Given the description of an element on the screen output the (x, y) to click on. 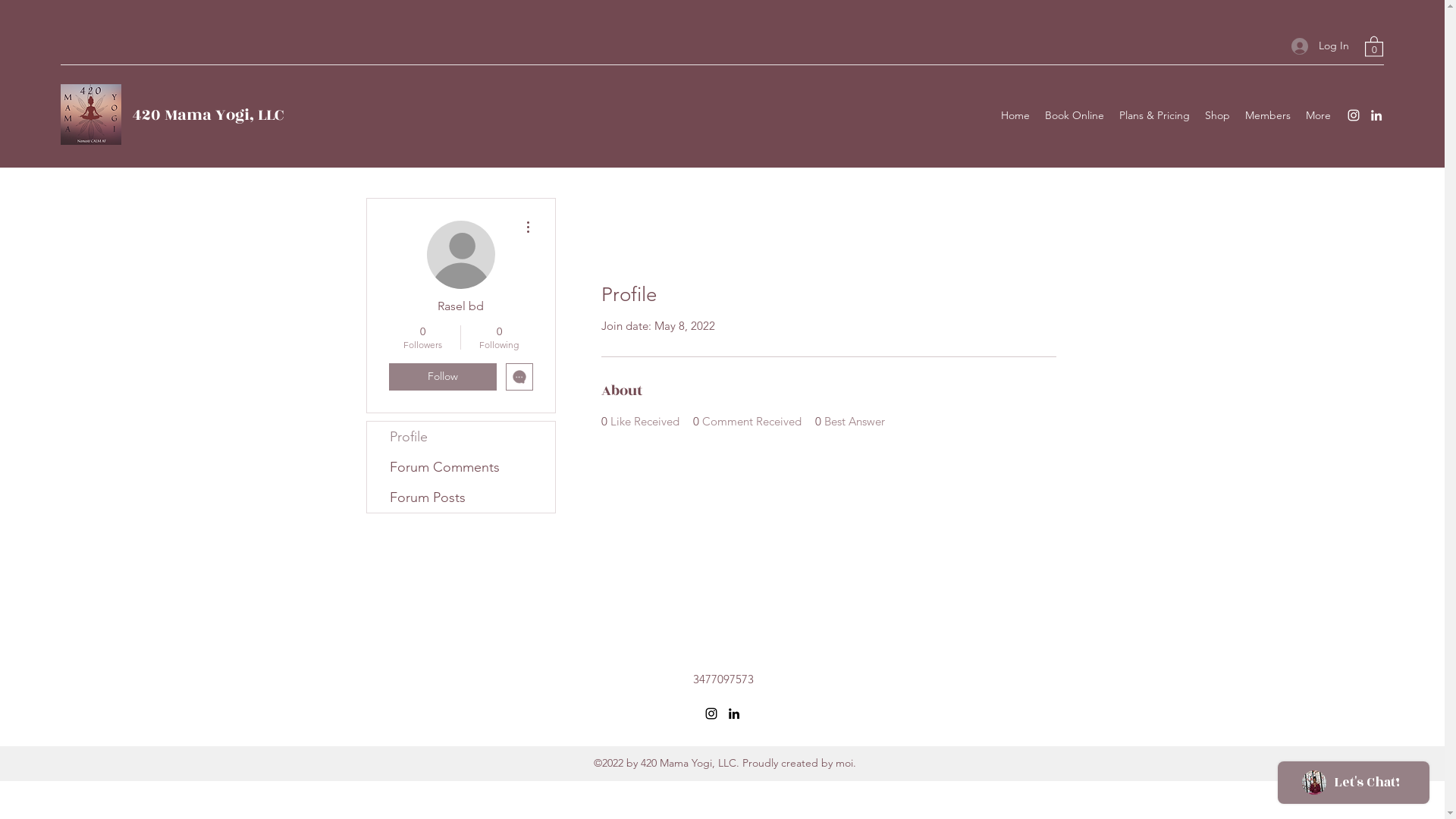
420 Mama Yogi, LLC Element type: text (207, 114)
0 Element type: text (1374, 45)
Book Online Element type: text (1074, 114)
0
Following Element type: text (499, 337)
Forum Comments Element type: text (461, 466)
Log In Element type: text (1319, 45)
Plans & Pricing Element type: text (1154, 114)
Profile Element type: text (461, 436)
Forum Posts Element type: text (461, 497)
Follow Element type: text (441, 376)
Shop Element type: text (1217, 114)
Home Element type: text (1015, 114)
Members Element type: text (1267, 114)
0
Followers Element type: text (421, 337)
